Given the description of an element on the screen output the (x, y) to click on. 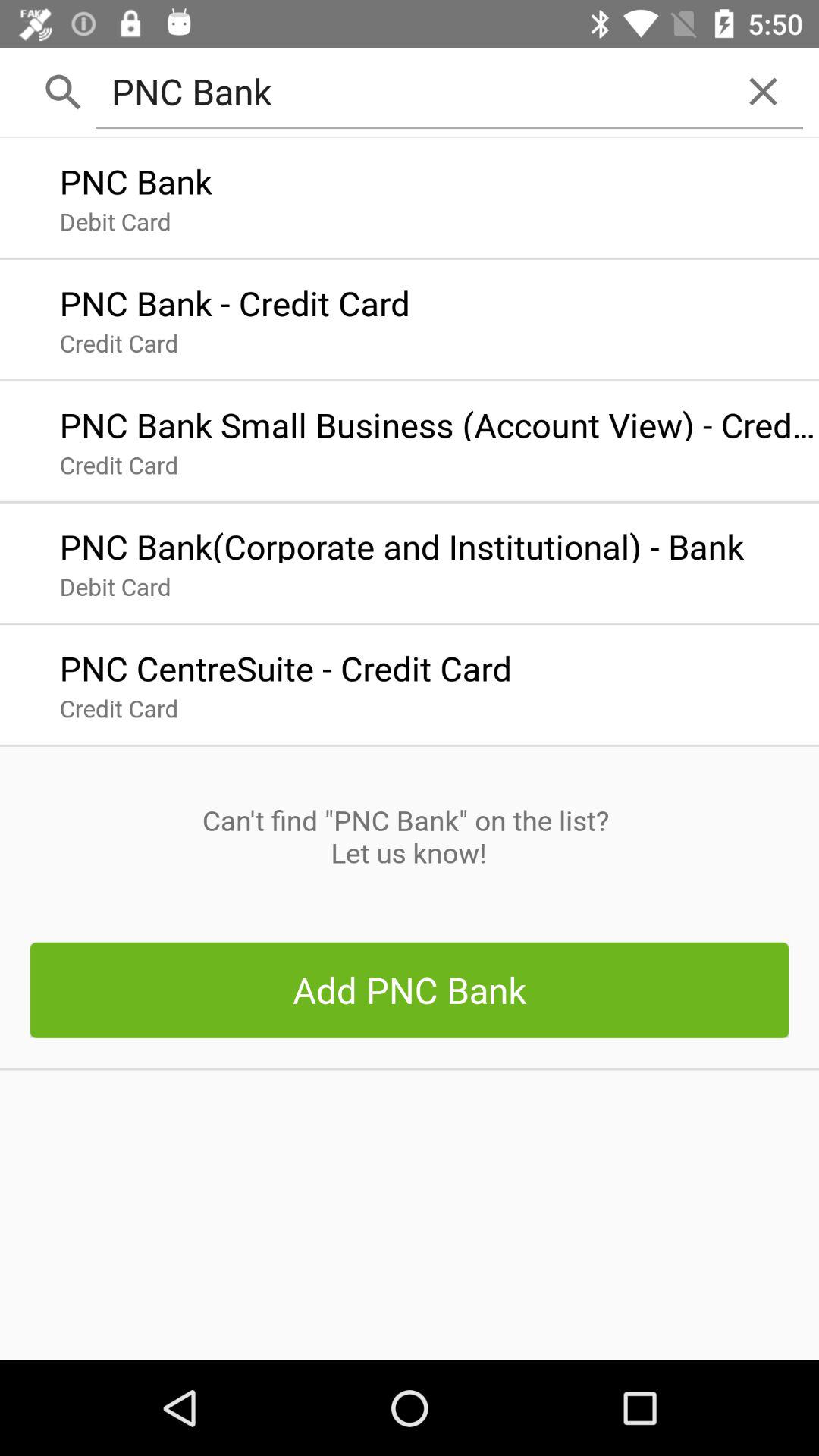
press icon to the right of the pnc bank item (763, 91)
